Given the description of an element on the screen output the (x, y) to click on. 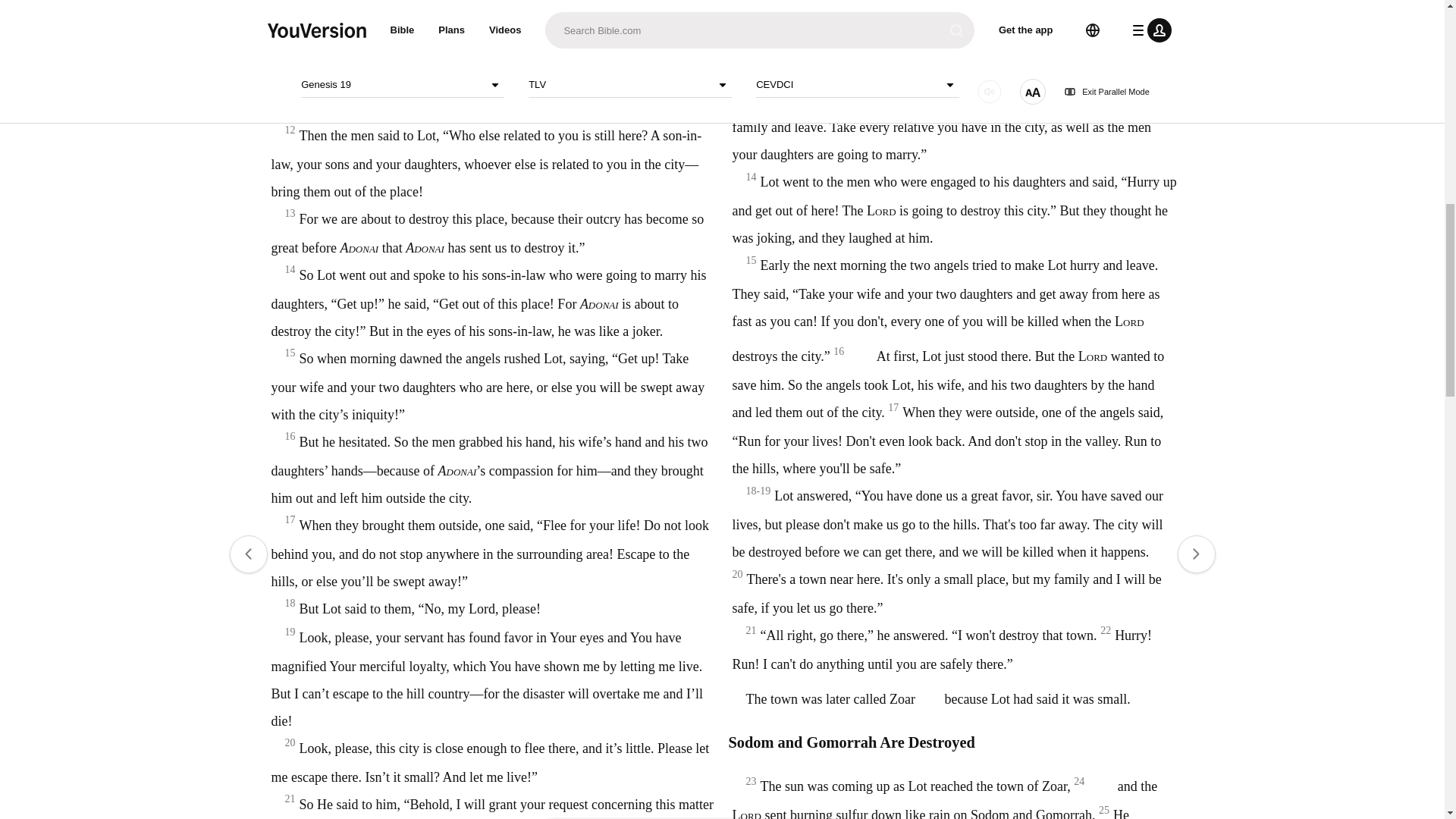
Genesis 19: TLV (618, 47)
Sign up or sign in (773, 245)
: (599, 47)
